Given the description of an element on the screen output the (x, y) to click on. 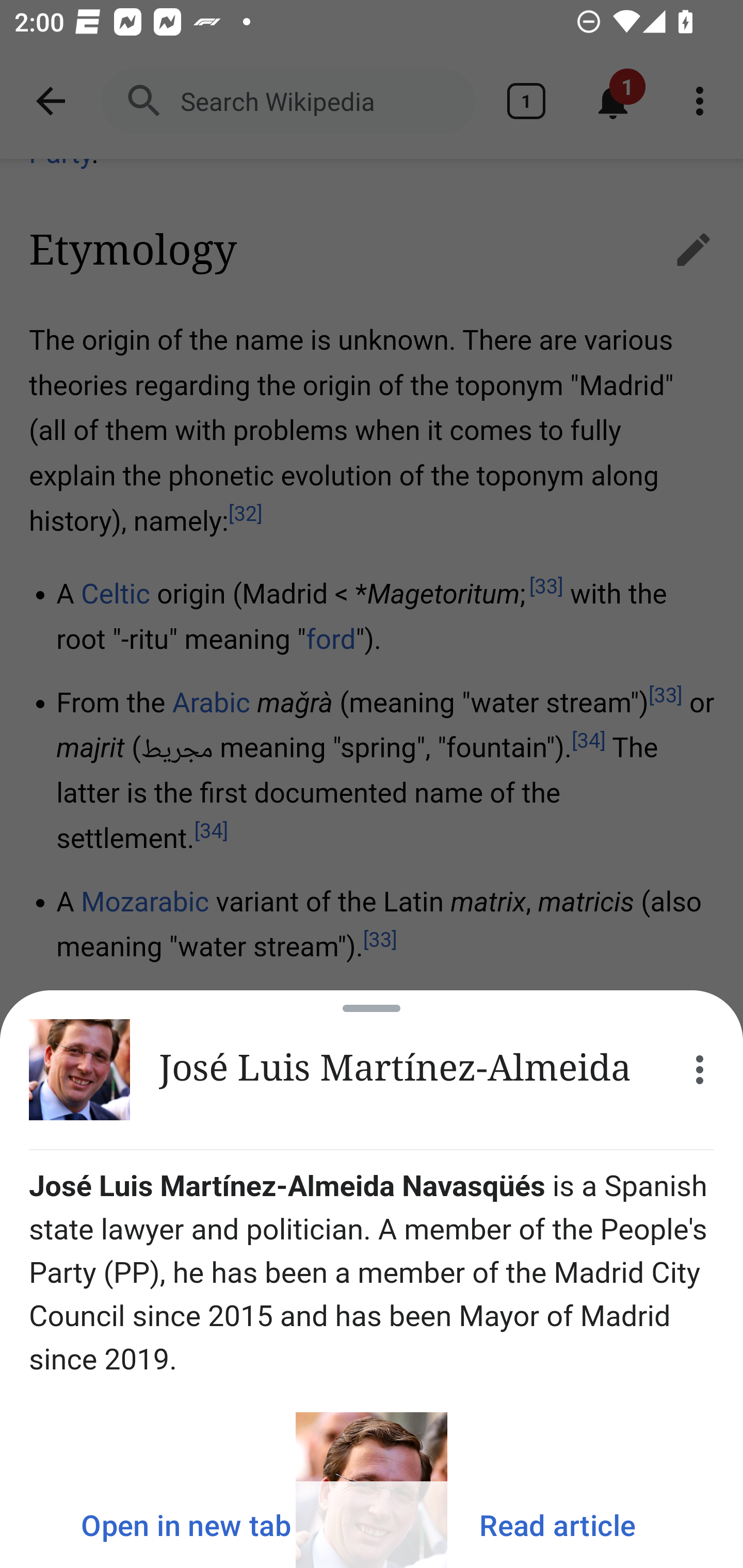
José Luis Martínez-Almeida More options (371, 1069)
More options (699, 1070)
Open in new tab (185, 1524)
Read article (557, 1524)
